Given the description of an element on the screen output the (x, y) to click on. 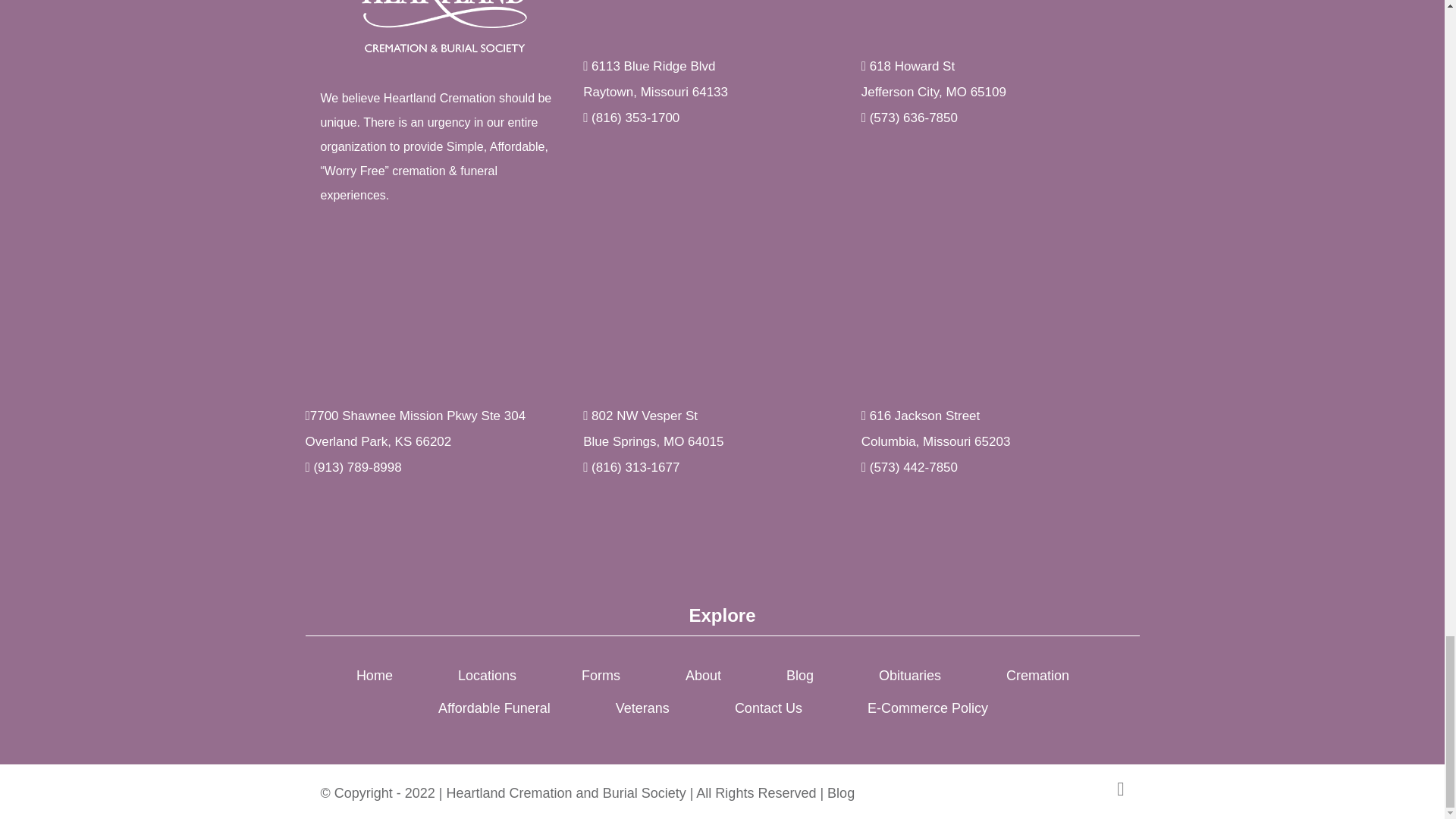
footer-sml-HeartLandWhiteNoBackground (443, 28)
